Given the description of an element on the screen output the (x, y) to click on. 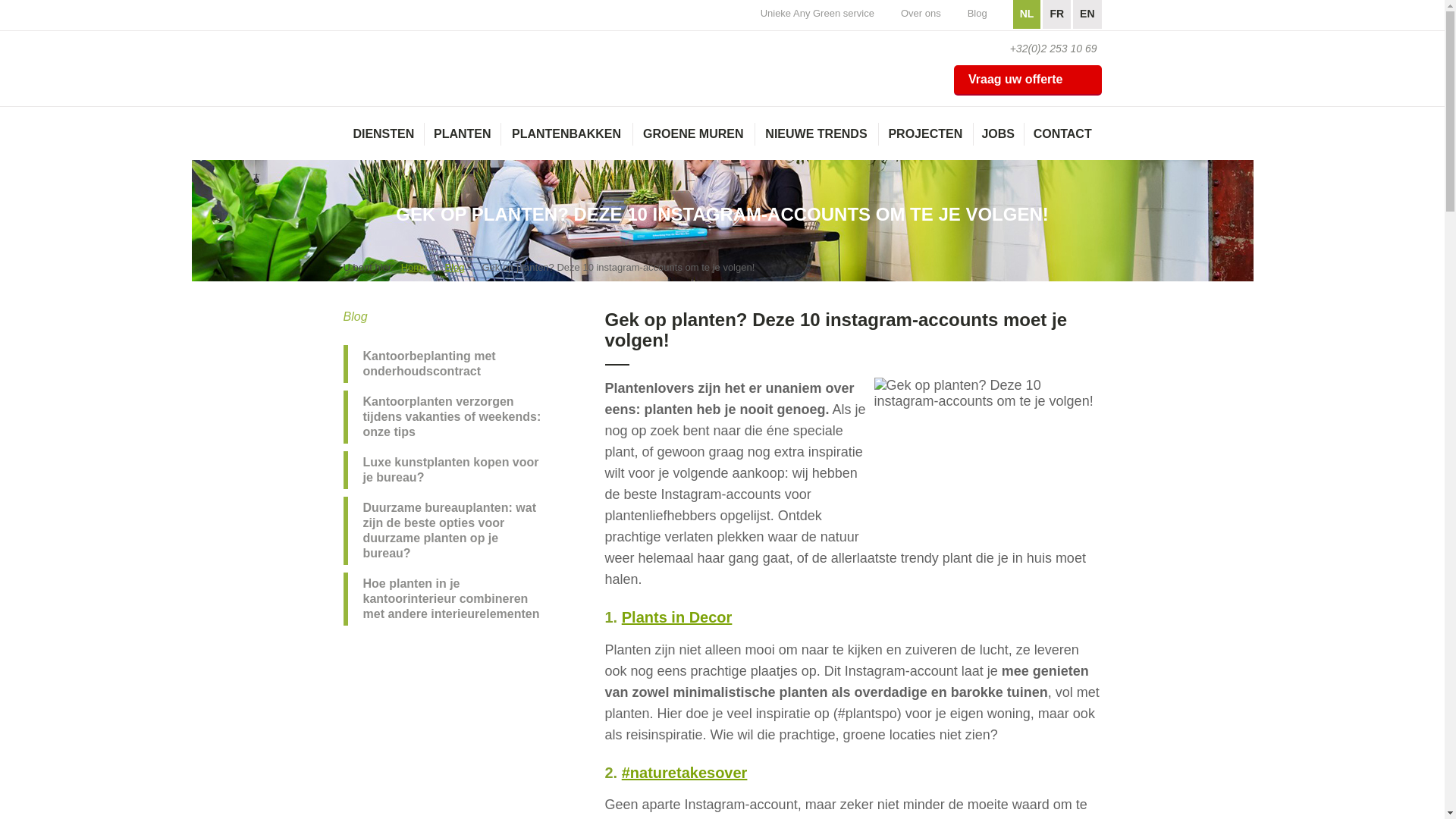
EN Element type: text (1087, 14)
Plants in Decor Element type: text (676, 616)
FR Element type: text (1056, 14)
Vraag uw offerte Element type: text (1027, 80)
GROENE MUREN Element type: text (693, 141)
Kantoorbeplanting met onderhoudscontract Element type: text (448, 363)
Home Element type: text (414, 267)
JOBS Element type: text (997, 141)
Blog Element type: text (454, 267)
Unieke Any Green service Element type: text (817, 14)
CONTACT Element type: text (1062, 141)
Luxe kunstplanten kopen voor je bureau? Element type: text (448, 470)
PLANTENBAKKEN Element type: text (565, 141)
AnyGreen Element type: text (408, 52)
PROJECTEN Element type: text (925, 141)
#naturetakesover Element type: text (684, 772)
NIEUWE TRENDS Element type: text (816, 141)
DIENSTEN Element type: text (382, 141)
Over ons Element type: text (920, 14)
NL Element type: text (1027, 14)
+32(0)2 253 10 69 Element type: text (1044, 48)
PLANTEN Element type: text (461, 141)
Blog Element type: text (977, 14)
